Given the description of an element on the screen output the (x, y) to click on. 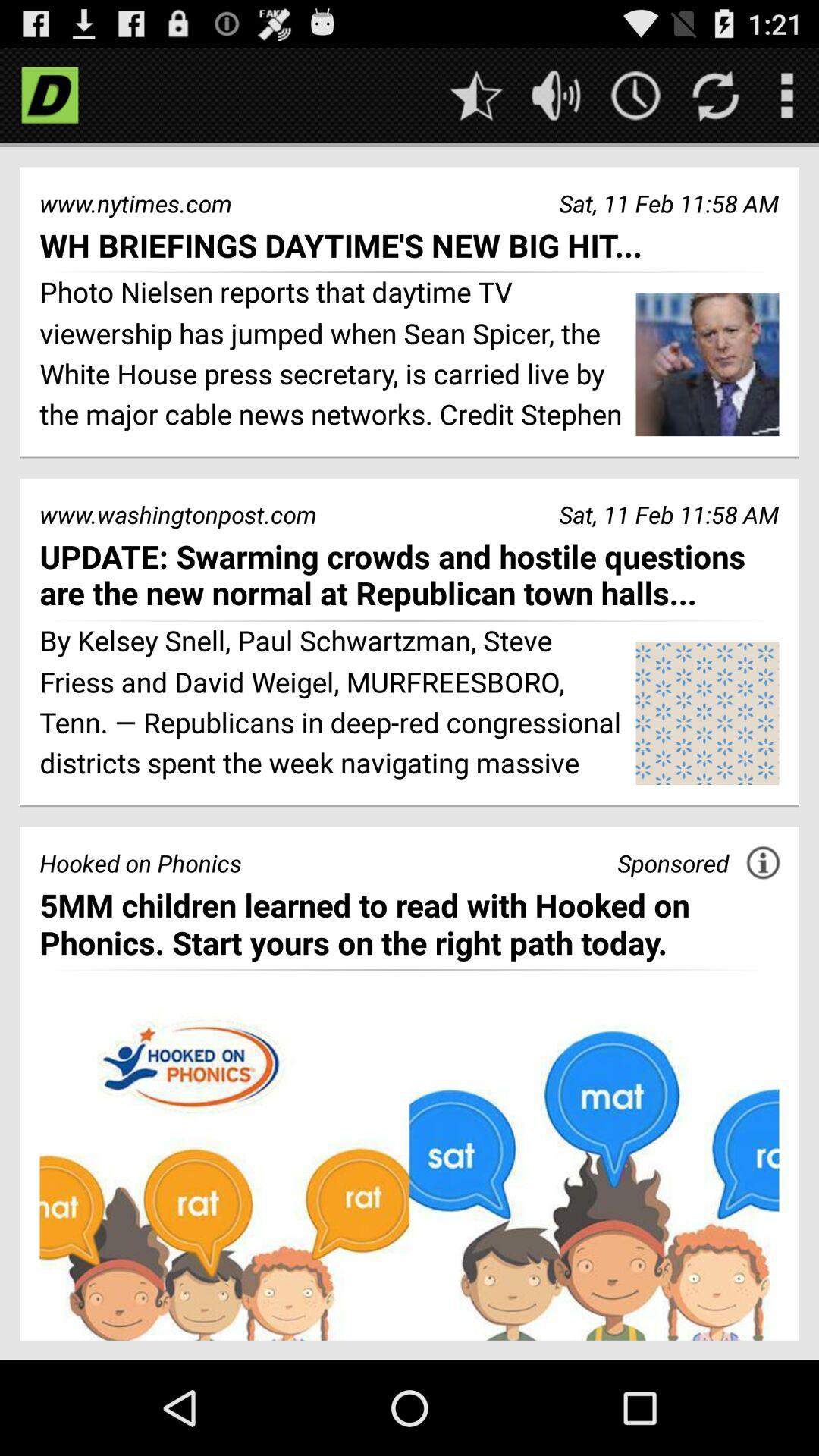
select the icon below the www.nytimes.com item (409, 244)
